Given the description of an element on the screen output the (x, y) to click on. 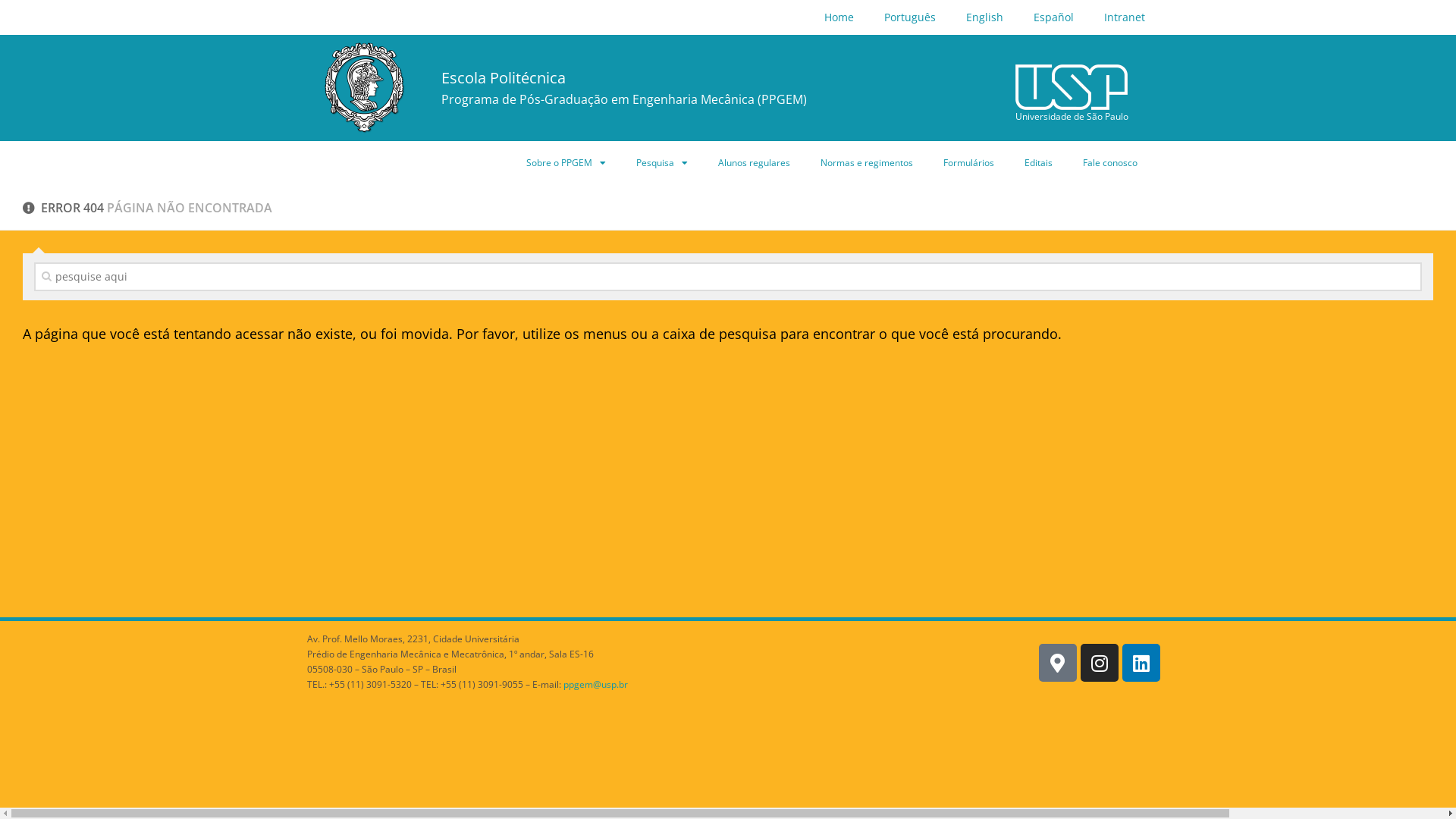
Pesquisa Element type: text (661, 162)
Normas e regimentos Element type: text (866, 162)
Fale conosco Element type: text (1109, 162)
English Element type: text (984, 17)
Home Element type: text (839, 17)
Alunos regulares Element type: text (753, 162)
Editais Element type: text (1038, 162)
Intranet Element type: text (1124, 17)
ppgem@usp.br Element type: text (595, 683)
Sobre o PPGEM Element type: text (566, 162)
